Given the description of an element on the screen output the (x, y) to click on. 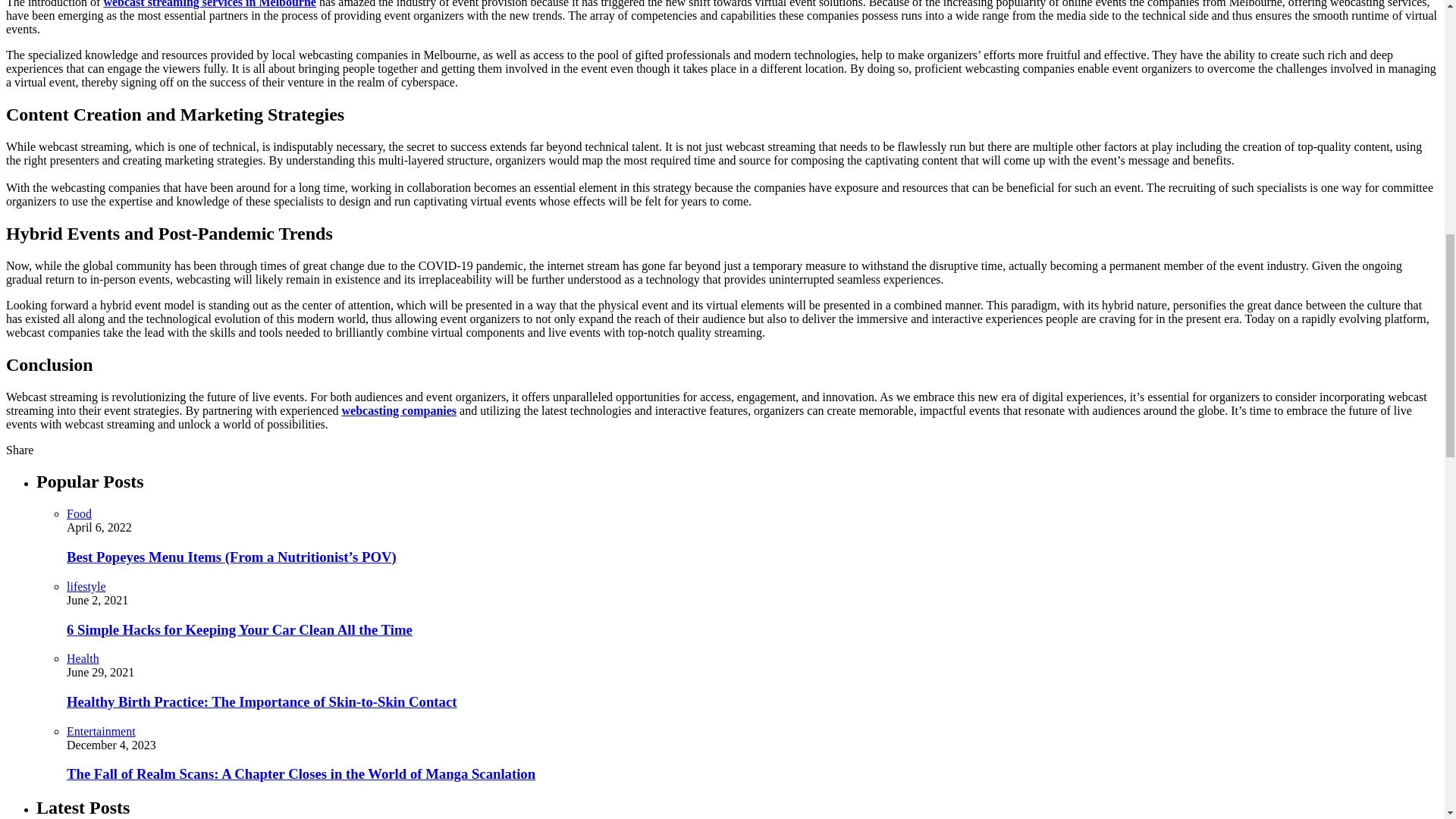
webcasting companies (399, 410)
Food (78, 513)
webcast streaming services in Melbourne (209, 4)
Health (82, 658)
6 Simple Hacks for Keeping Your Car Clean All the Time (239, 629)
lifestyle (86, 585)
Entertainment (100, 730)
